Given the description of an element on the screen output the (x, y) to click on. 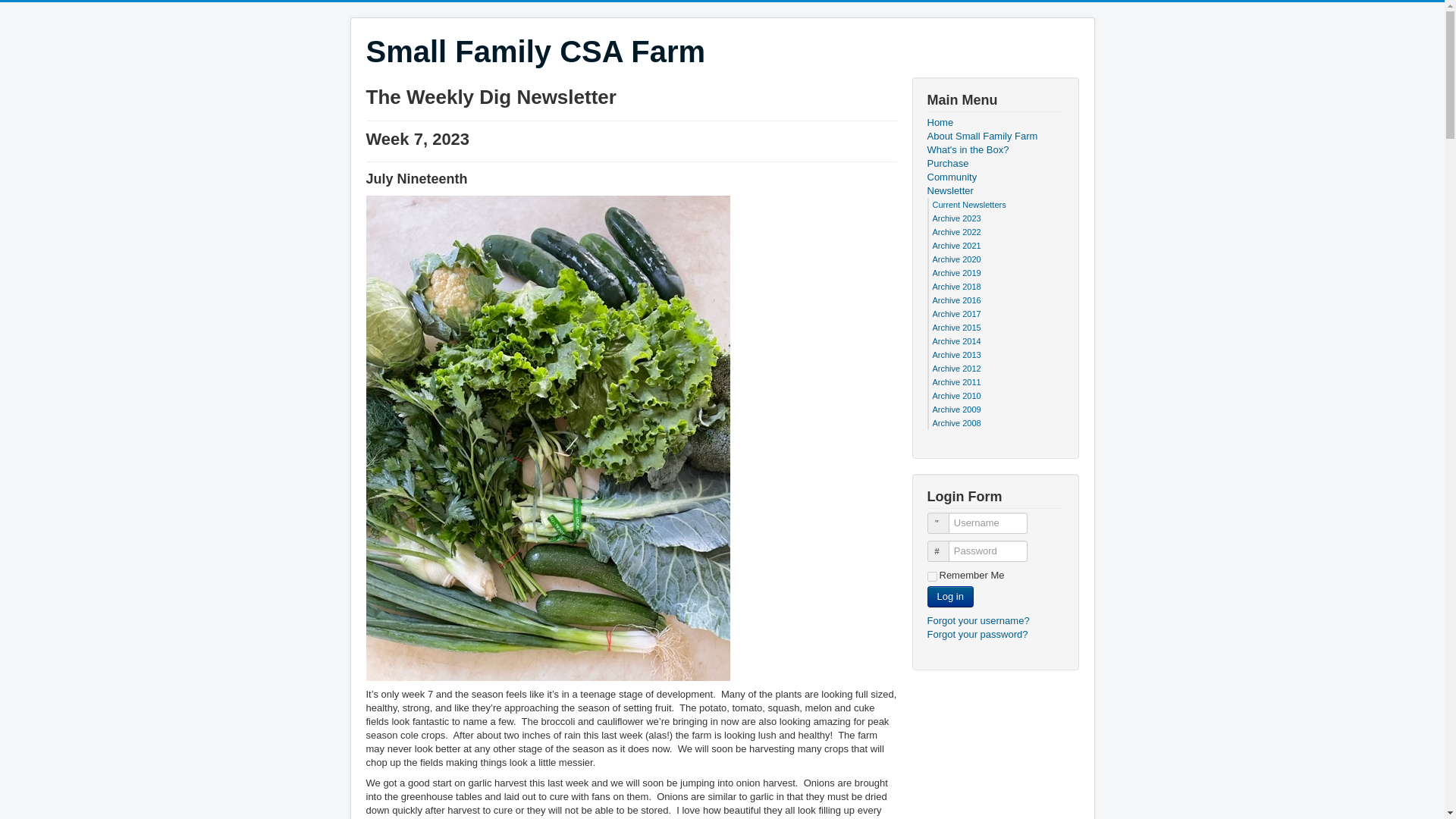
Small Family CSA Farm (534, 51)
Home (994, 122)
Archive 2013 (957, 354)
Archive 2011 (957, 381)
Archive 2010 (957, 395)
Archive 2022 (957, 231)
Archive 2016 (957, 299)
Archive 2017 (957, 313)
Small Family CSA Farm (534, 51)
Archive 2009 (957, 409)
Archive 2019 (957, 272)
Archive 2021 (957, 245)
Log in (949, 596)
Archive 2023 (957, 217)
Current Newsletters (969, 204)
